Given the description of an element on the screen output the (x, y) to click on. 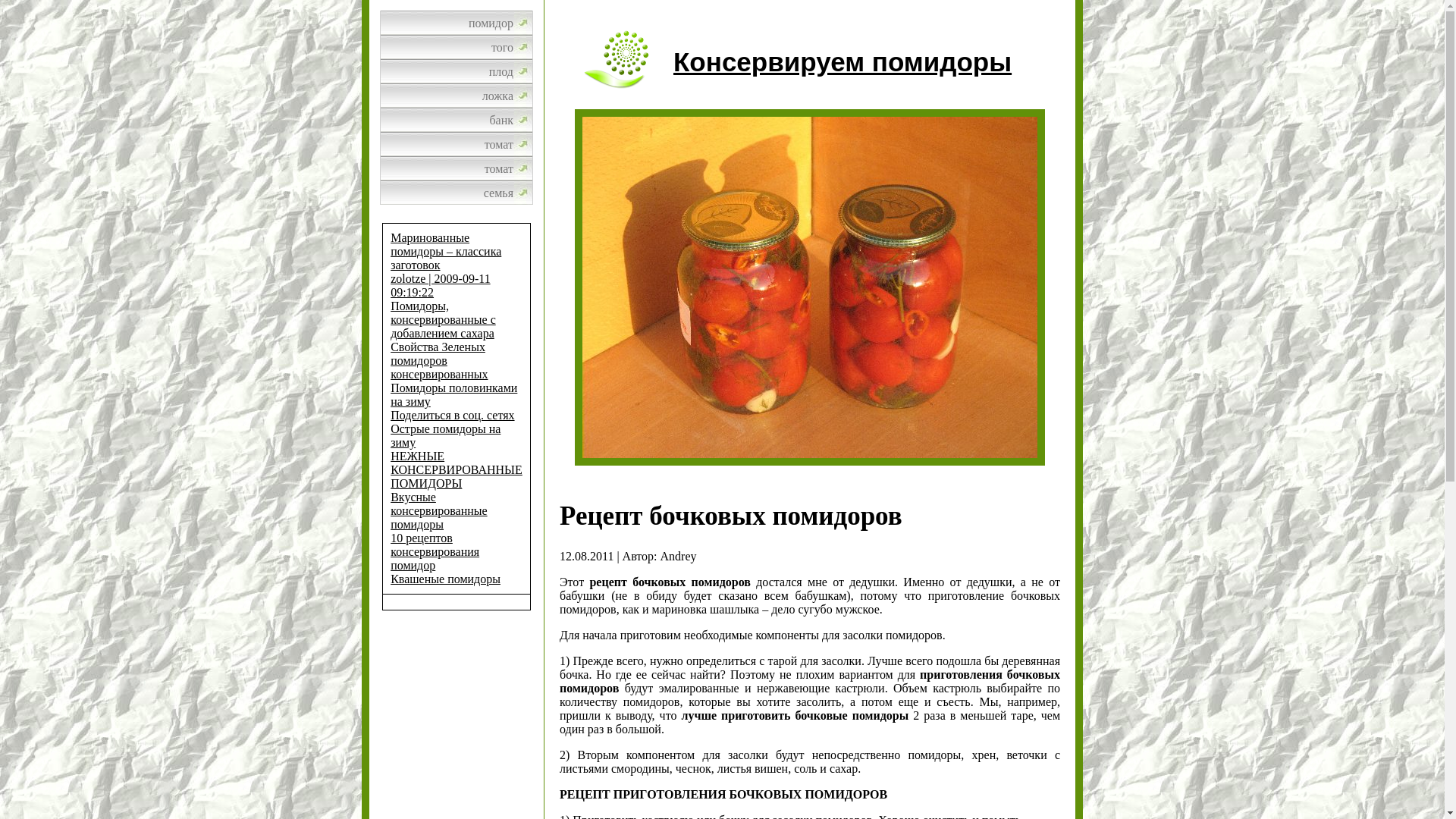
zolotze | 2009-09-11 09:19:22 Element type: text (439, 285)
